Given the description of an element on the screen output the (x, y) to click on. 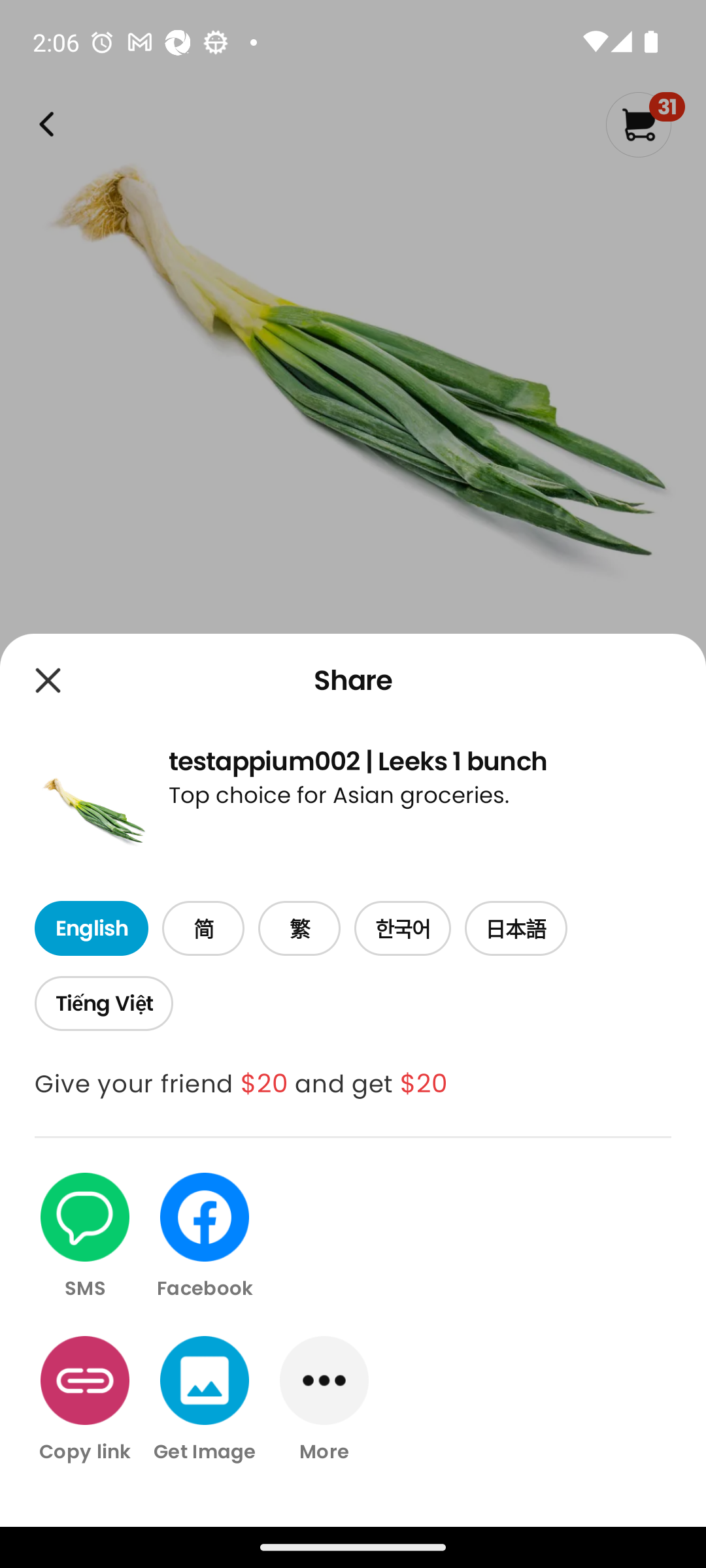
English (91, 928)
简 (203, 928)
繁 (299, 928)
한국어 (402, 928)
日本語 (515, 928)
Tiếng Việt (103, 1003)
SMS (85, 1236)
Facebook (204, 1236)
Copy link (85, 1399)
Get Image (204, 1399)
More (324, 1399)
